Given the description of an element on the screen output the (x, y) to click on. 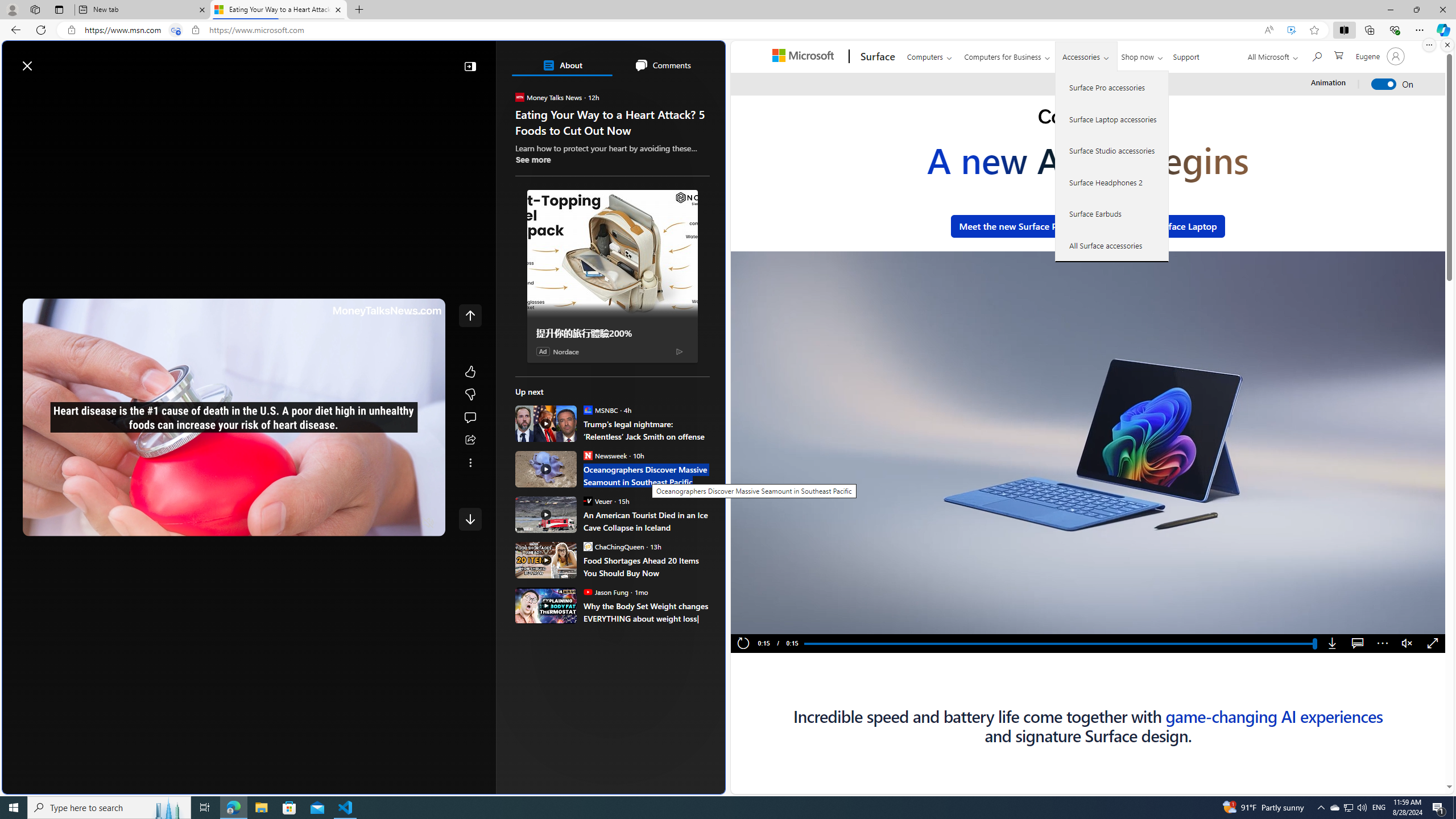
All Surface accessories (1112, 245)
Jason Fung Jason Fung (605, 591)
Open navigation menu (16, 92)
An American Tourist Died in an Ice Cave Collapse in Iceland (646, 520)
Fullscreen (1432, 643)
Support (1185, 54)
Replay (742, 643)
Quality Settings (360, 523)
